Given the description of an element on the screen output the (x, y) to click on. 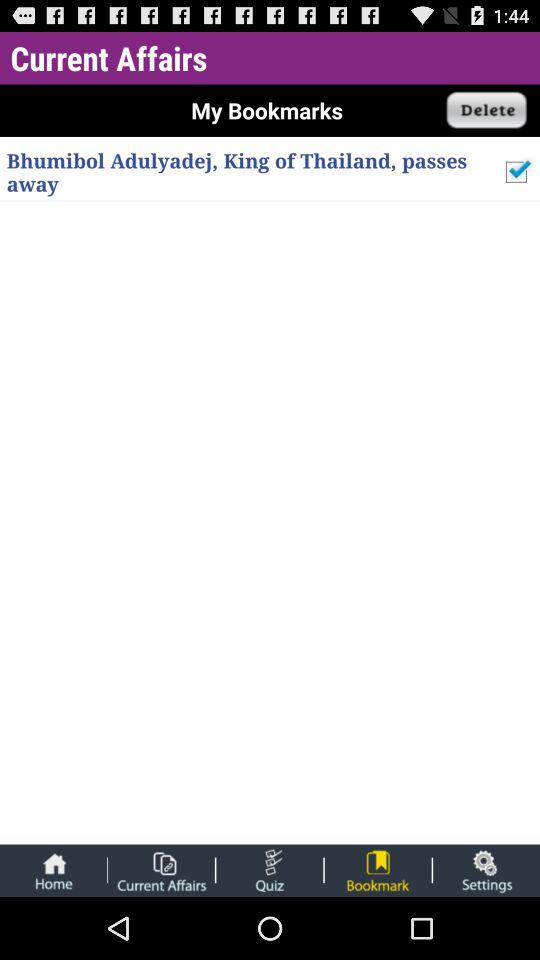
go to settings page (486, 870)
